Given the description of an element on the screen output the (x, y) to click on. 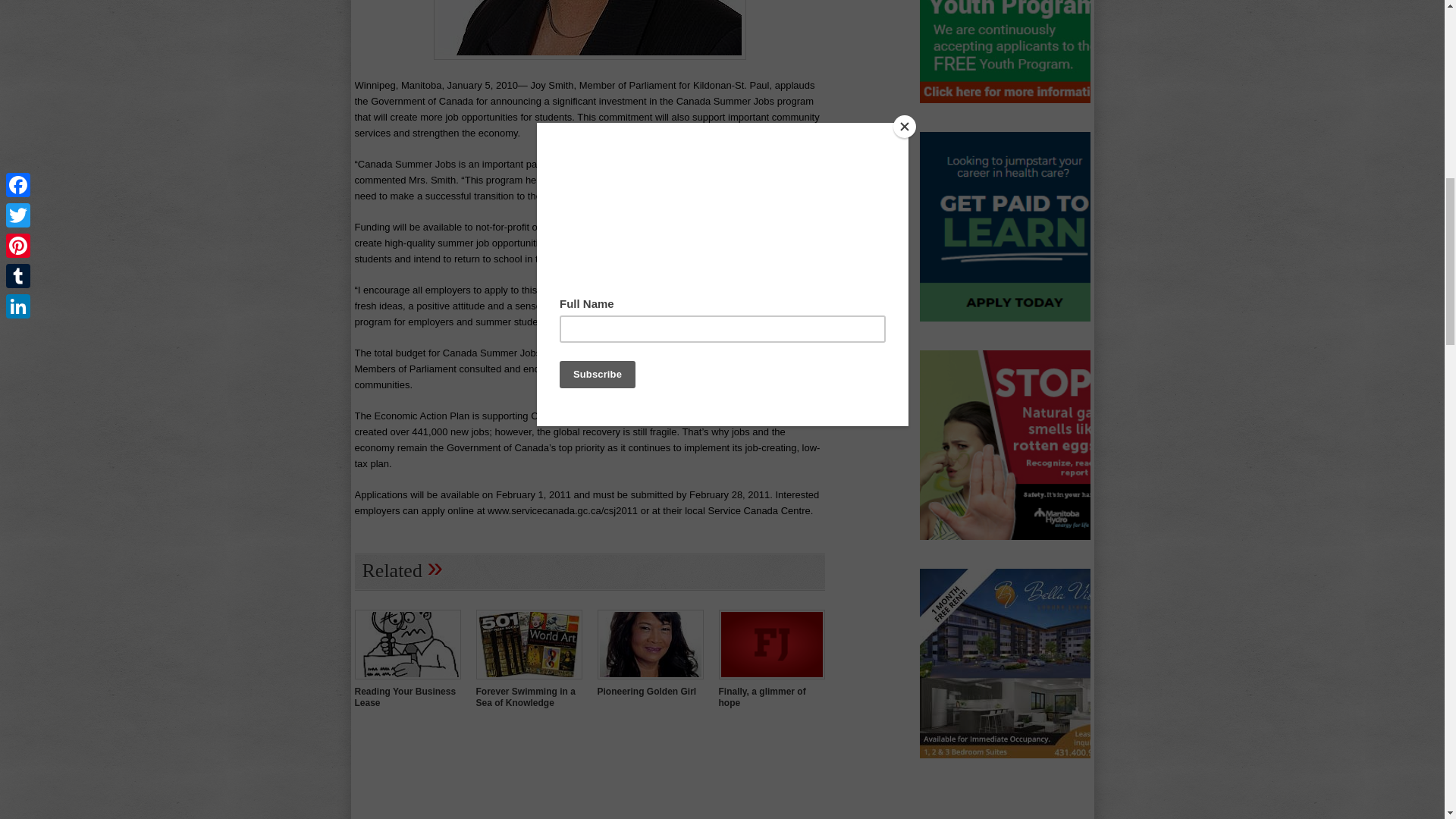
Finally, a glimmer of hope (762, 697)
MP Joy Smith (589, 29)
Forever Swimming in a Sea of Knowledge (525, 697)
Pioneering Golden Girl (646, 691)
Reading Your Business Lease (408, 680)
Reading Your Business Lease (406, 697)
Pioneering Golden Girl (646, 691)
Forever Swimming in a Sea of Knowledge (525, 697)
Reading Your Business Lease (406, 697)
Finally, a glimmer of hope (762, 697)
MP Joy Smith (589, 56)
Finally, a glimmer of hope (772, 680)
Forever Swimming in a Sea of Knowledge (529, 680)
Pioneering Golden Girl (649, 680)
